Given the description of an element on the screen output the (x, y) to click on. 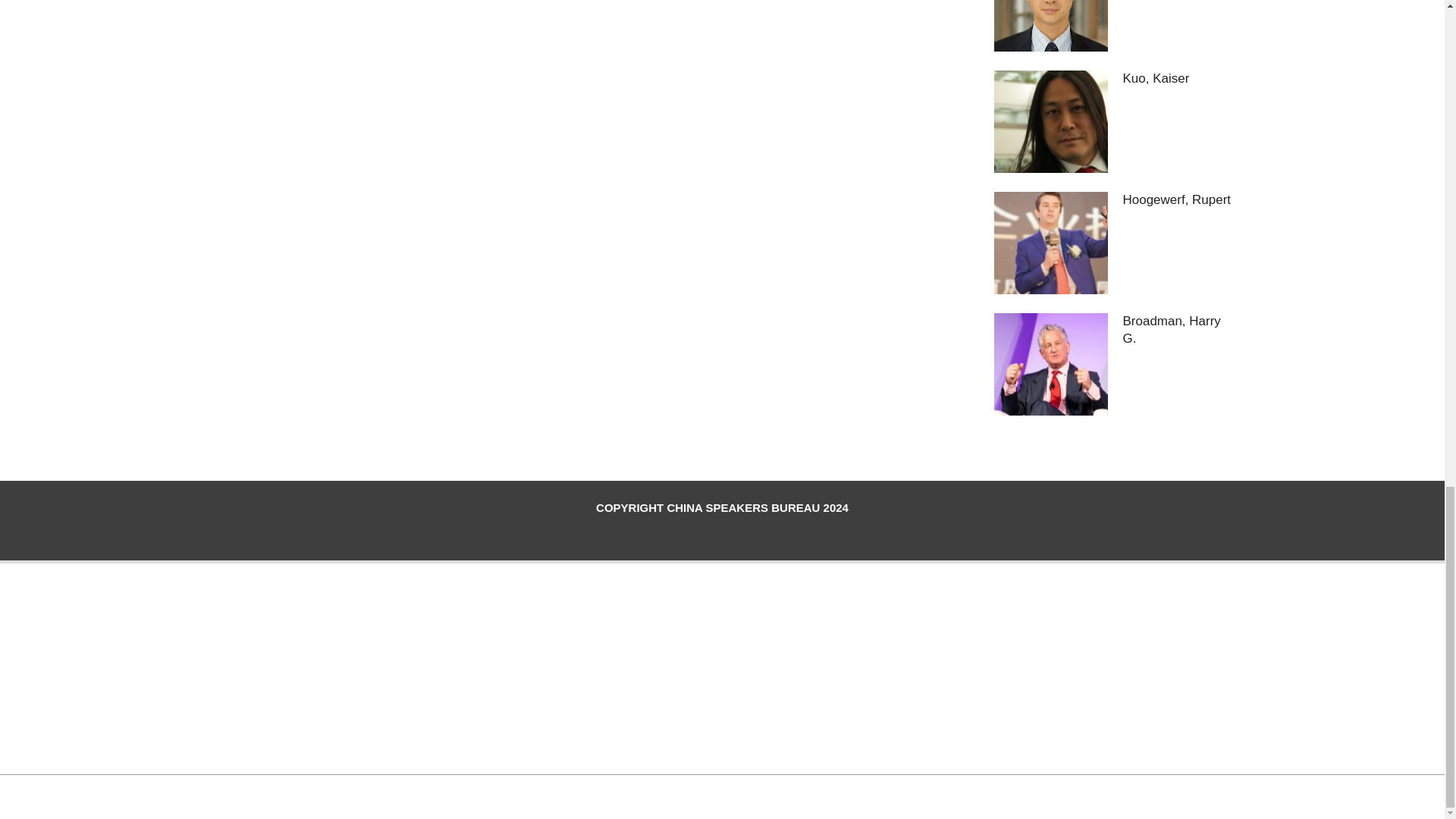
Hoot Du WordPress Theme (704, 794)
